Given the description of an element on the screen output the (x, y) to click on. 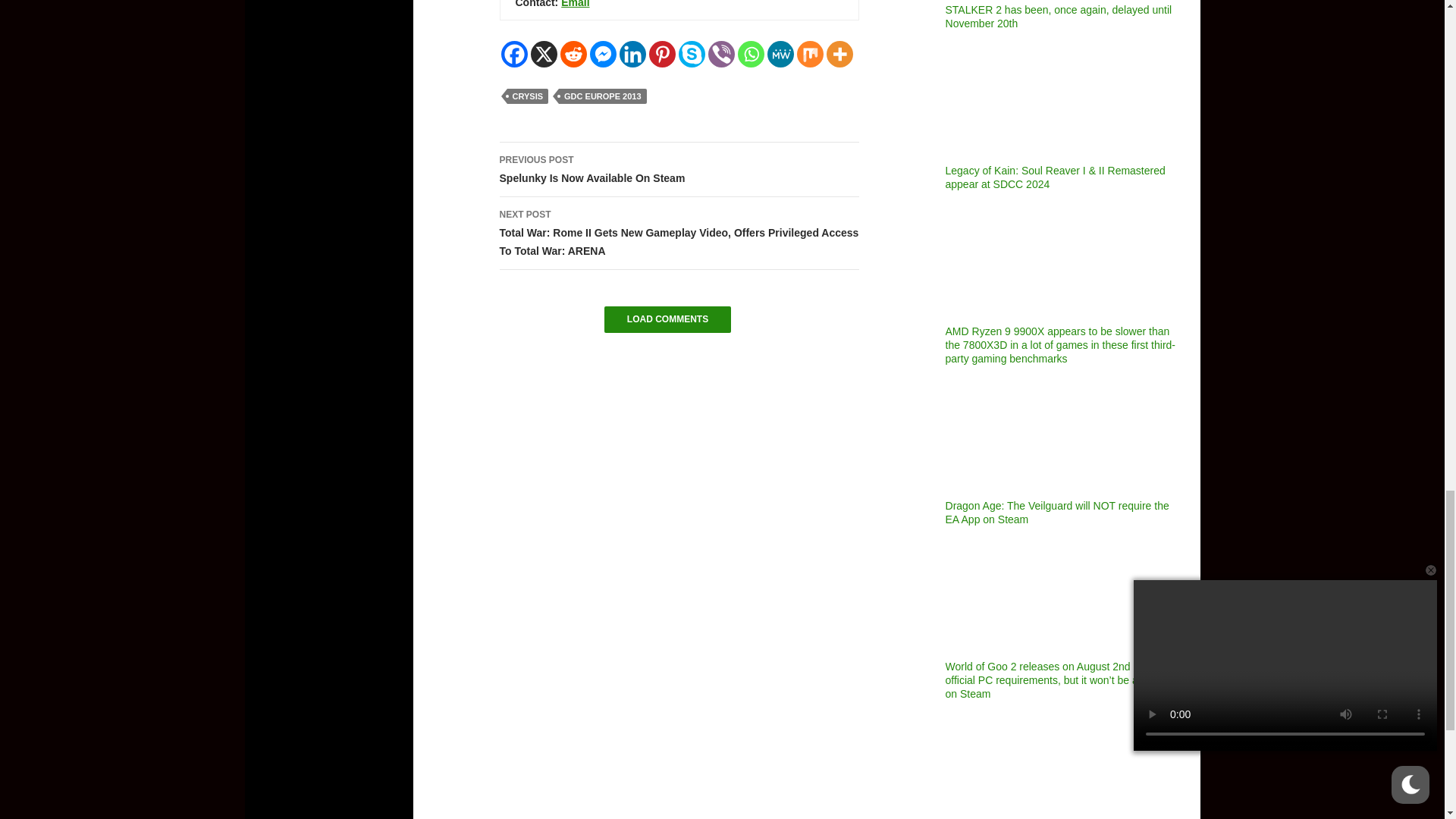
X (544, 53)
Facebook (513, 53)
Email (574, 4)
